Given the description of an element on the screen output the (x, y) to click on. 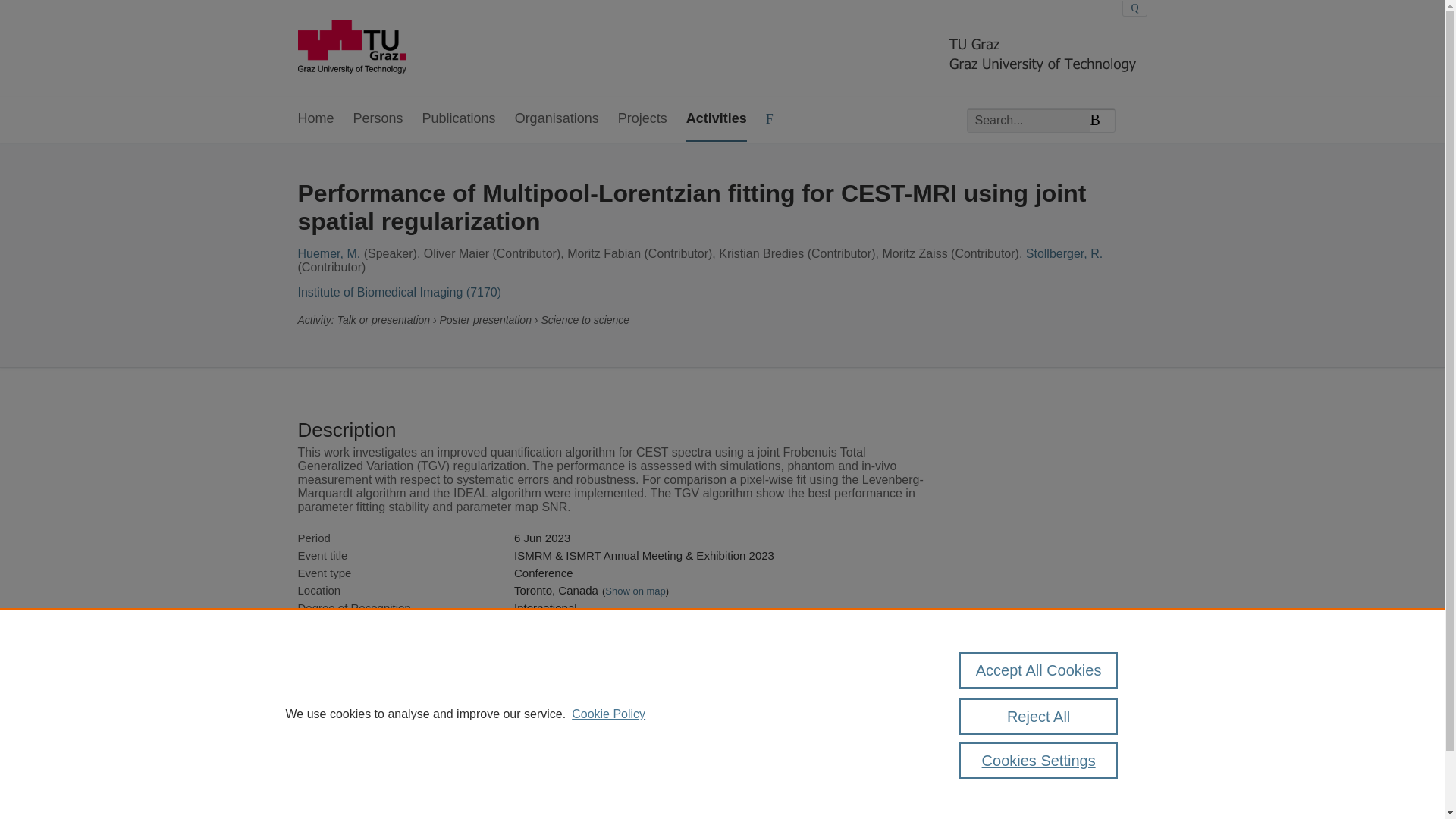
Publications (459, 119)
Huemer, M. (328, 253)
Log in to Pure (327, 818)
About web accessibility (1046, 762)
Report vulnerability (1037, 782)
Stollberger, R. (1064, 253)
Projects (641, 119)
Scopus (394, 730)
Show on map (635, 591)
use of cookies (796, 782)
Cookies Settings (1038, 760)
Persons (378, 119)
Organisations (556, 119)
Graz University of Technology data protection policy (1060, 735)
